Given the description of an element on the screen output the (x, y) to click on. 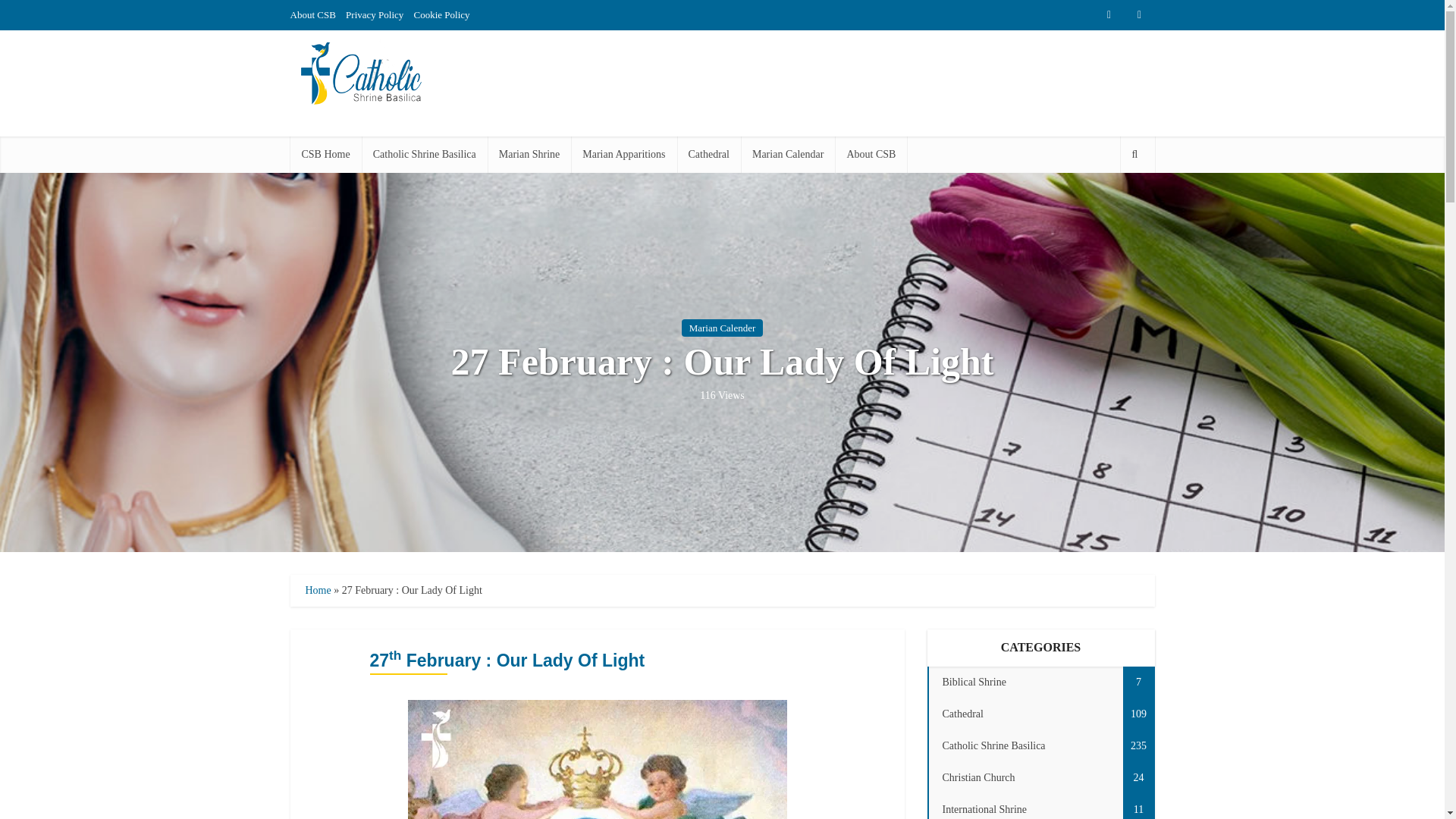
Catholic Shrine Basilica (424, 154)
Marian Calendar (787, 154)
About CSB (311, 14)
Marian Apparitions (623, 154)
CSB Home (325, 154)
Privacy Policy (374, 14)
About CSB (870, 154)
Home (317, 589)
Cookie Policy (441, 14)
Cathedral (709, 154)
